Given the description of an element on the screen output the (x, y) to click on. 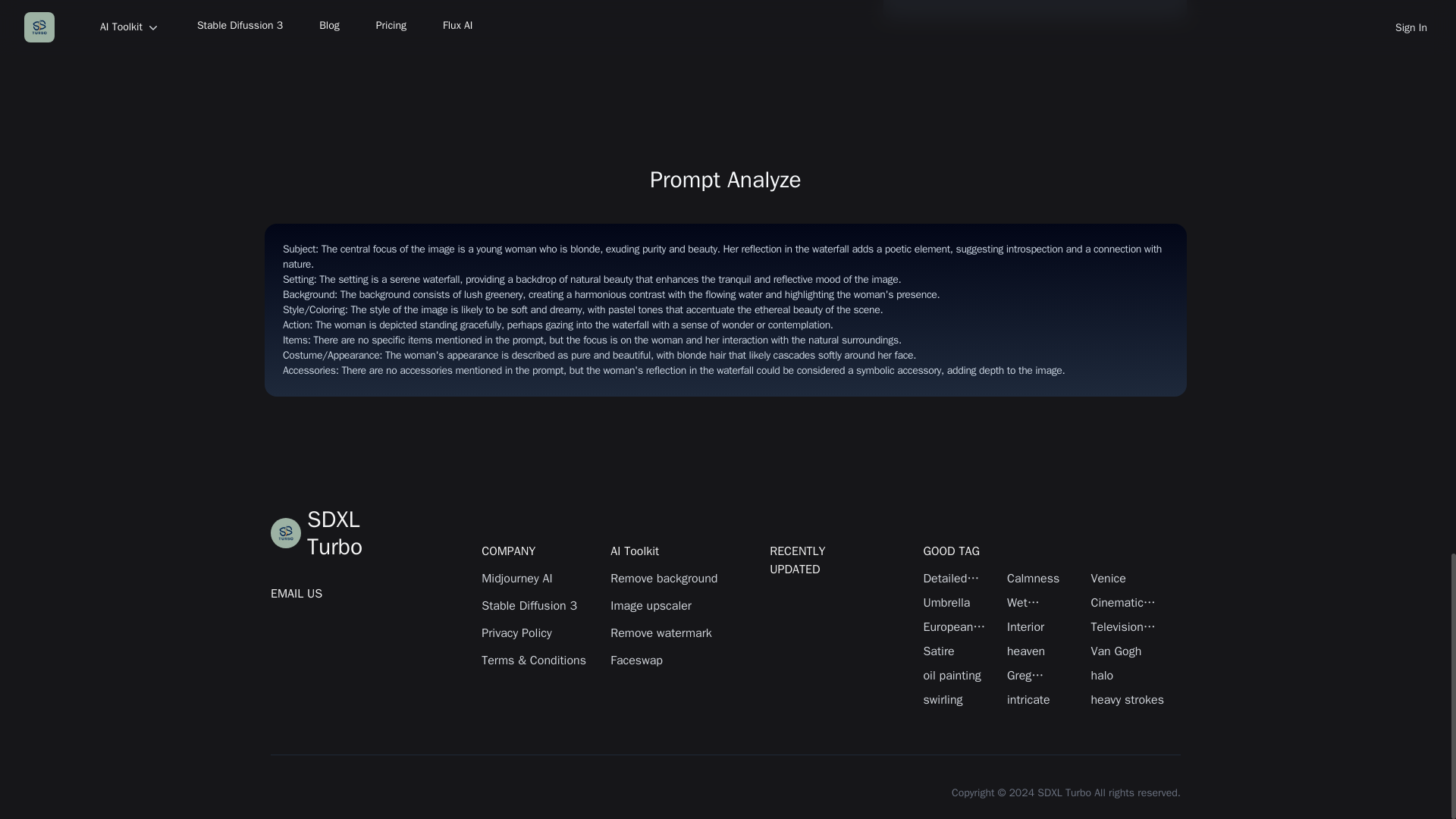
Privacy Policy (538, 633)
Privacy Policy (538, 633)
Stable Diffusion 3 (538, 606)
SDXL Turbo (345, 533)
Image upscaler (666, 606)
Television Show (1128, 627)
Van Gogh (1128, 651)
Umbrella (960, 602)
Interior (1045, 627)
Calmness (1045, 578)
